Given the description of an element on the screen output the (x, y) to click on. 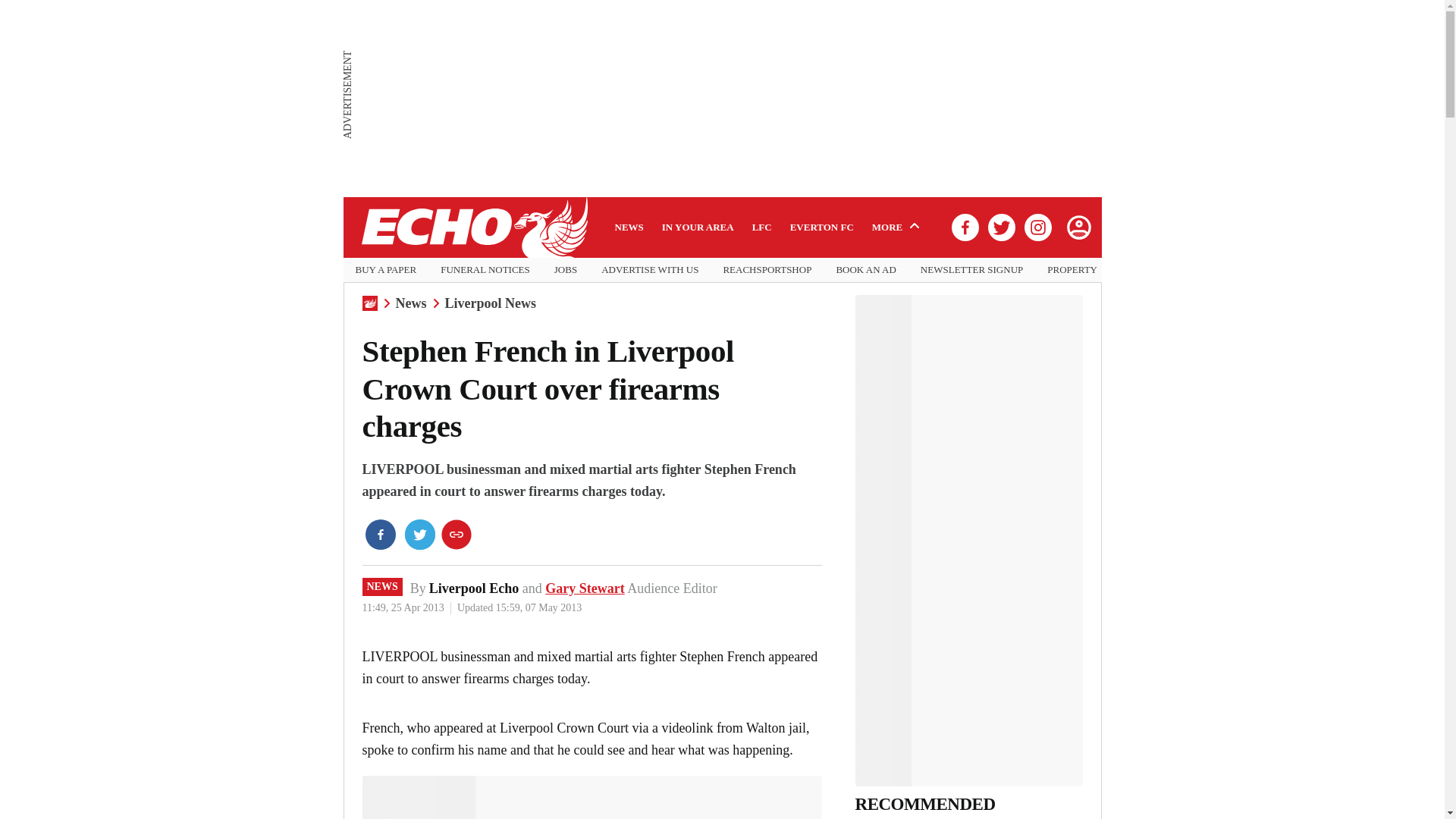
MORE (897, 227)
JOBS (565, 270)
Gary Stewart (584, 588)
IN YOUR AREA (697, 227)
BOOK AN AD (865, 270)
REACHSPORTSHOP (766, 270)
copy link (456, 534)
PROPERTY (1071, 270)
ADVERTISE WITH US (649, 270)
Go to the Liverpool Echo homepage (473, 227)
avatar (1077, 227)
BUY A PAPER (385, 270)
EVERTON FC (821, 227)
News (411, 303)
FUNERAL NOTICES (485, 270)
